Given the description of an element on the screen output the (x, y) to click on. 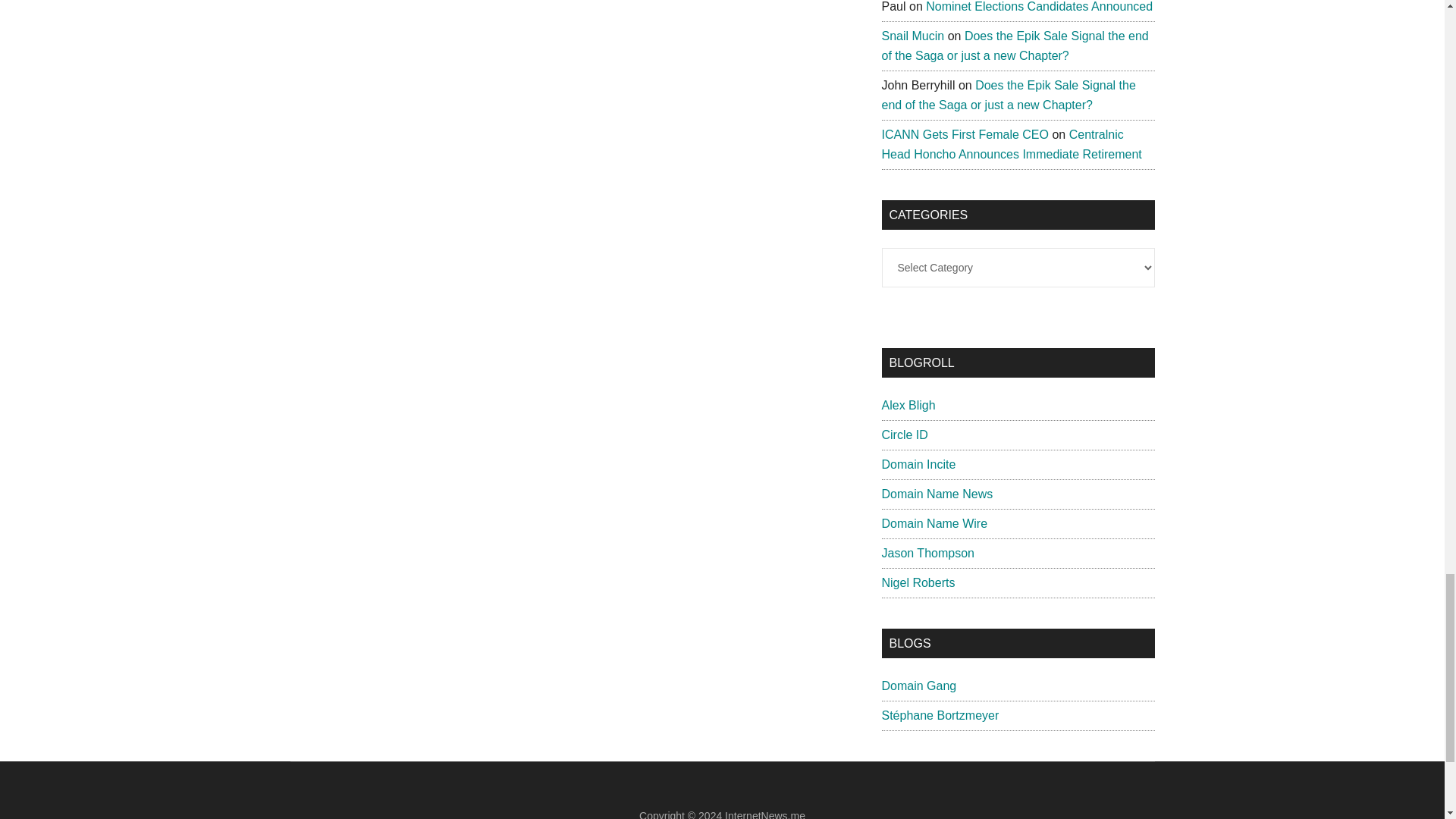
Domain news and humour (918, 685)
Jason Thompson (927, 553)
